Given the description of an element on the screen output the (x, y) to click on. 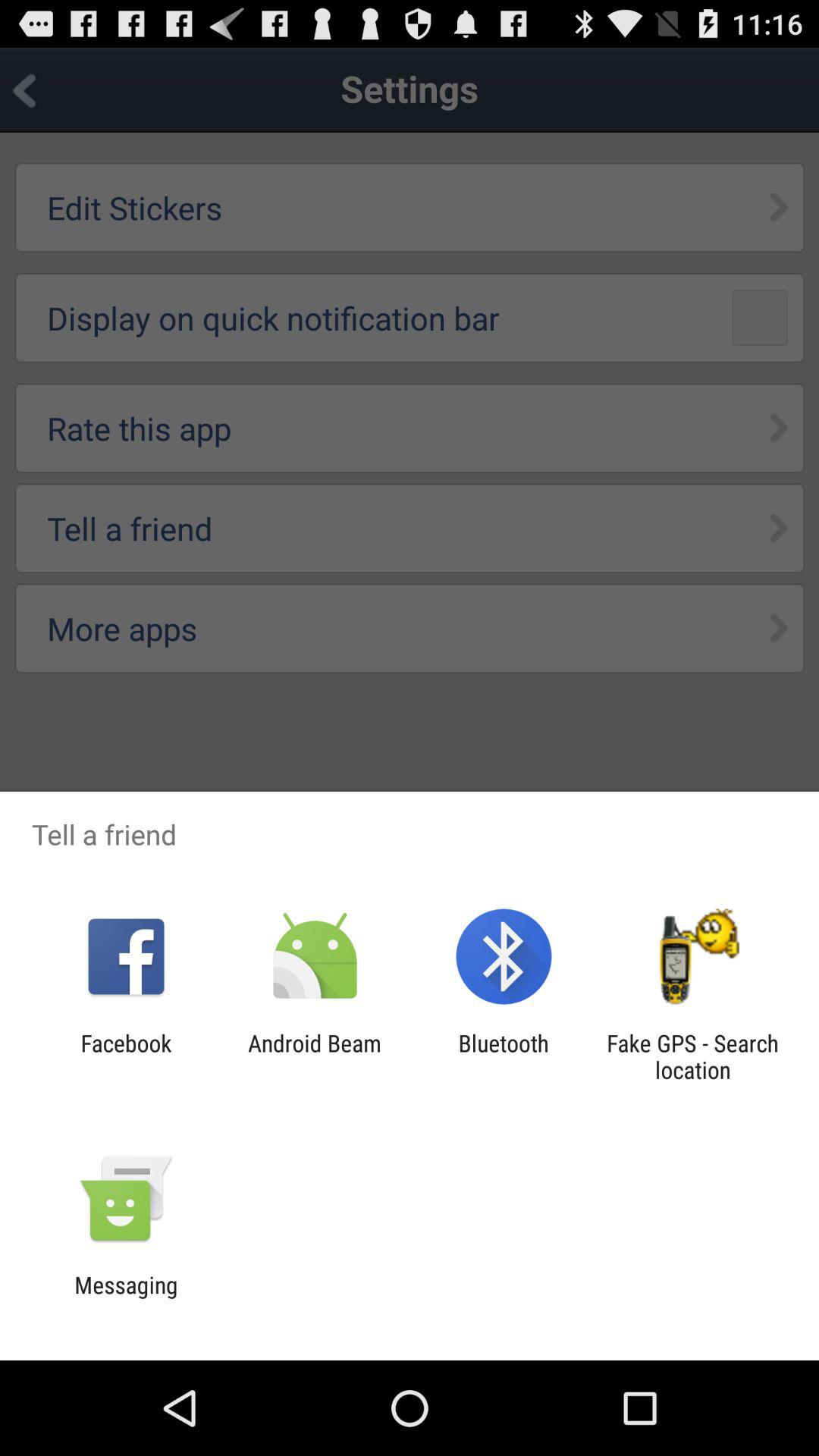
jump until the android beam app (314, 1056)
